Given the description of an element on the screen output the (x, y) to click on. 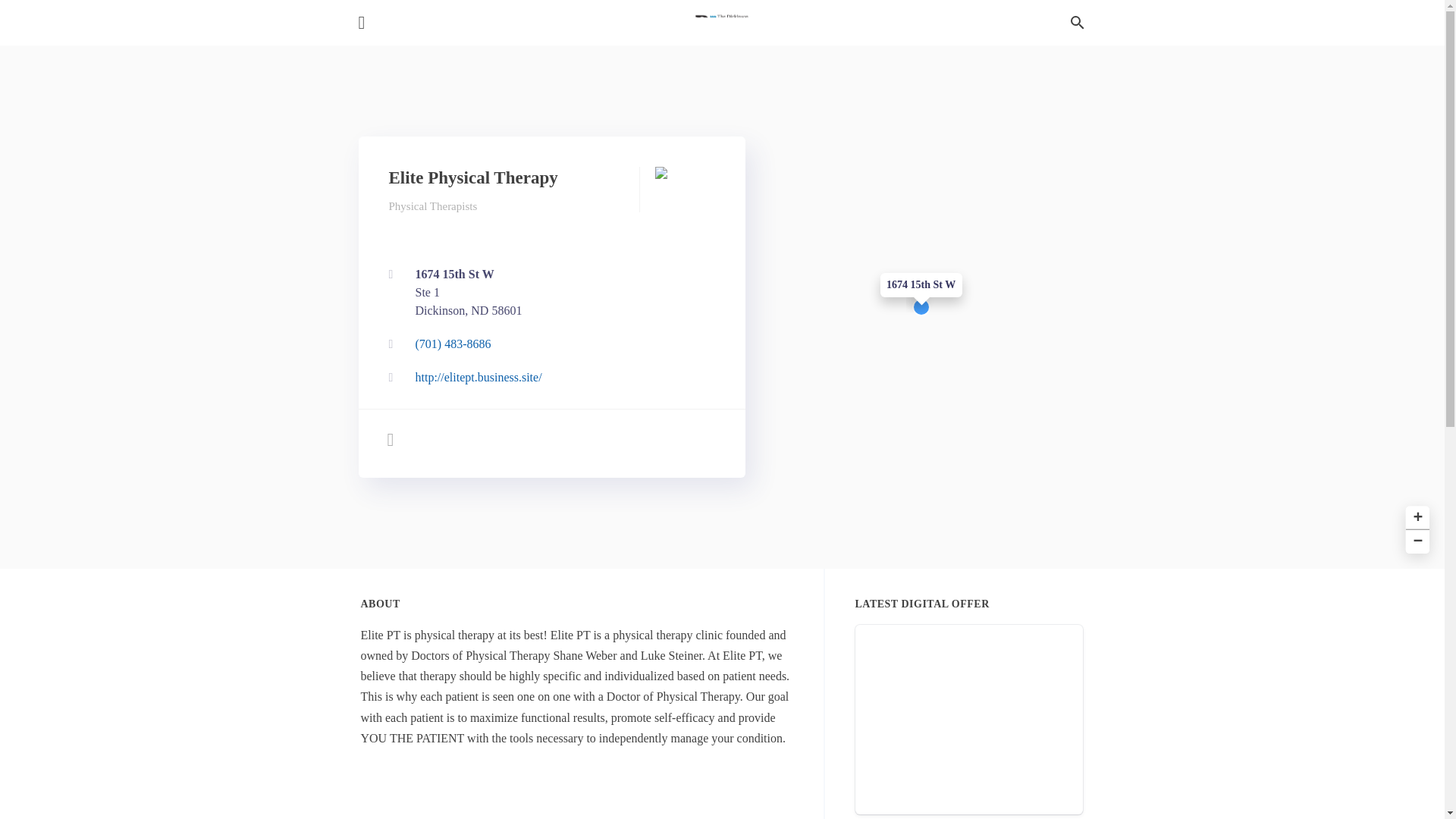
Open website in a new tab (547, 377)
Zoom in (1415, 515)
Physical Therapists (432, 205)
Origami widget number: 1943532 (969, 719)
Zoom out (1415, 539)
Search business collapsed (1076, 22)
Call Phone Number (547, 292)
Get directions (547, 344)
